Given the description of an element on the screen output the (x, y) to click on. 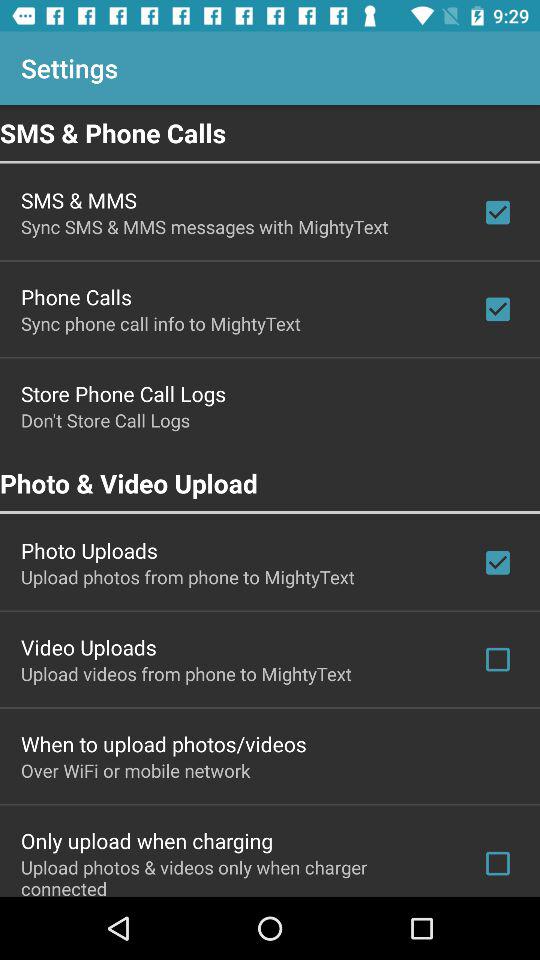
open don t store (105, 420)
